Given the description of an element on the screen output the (x, y) to click on. 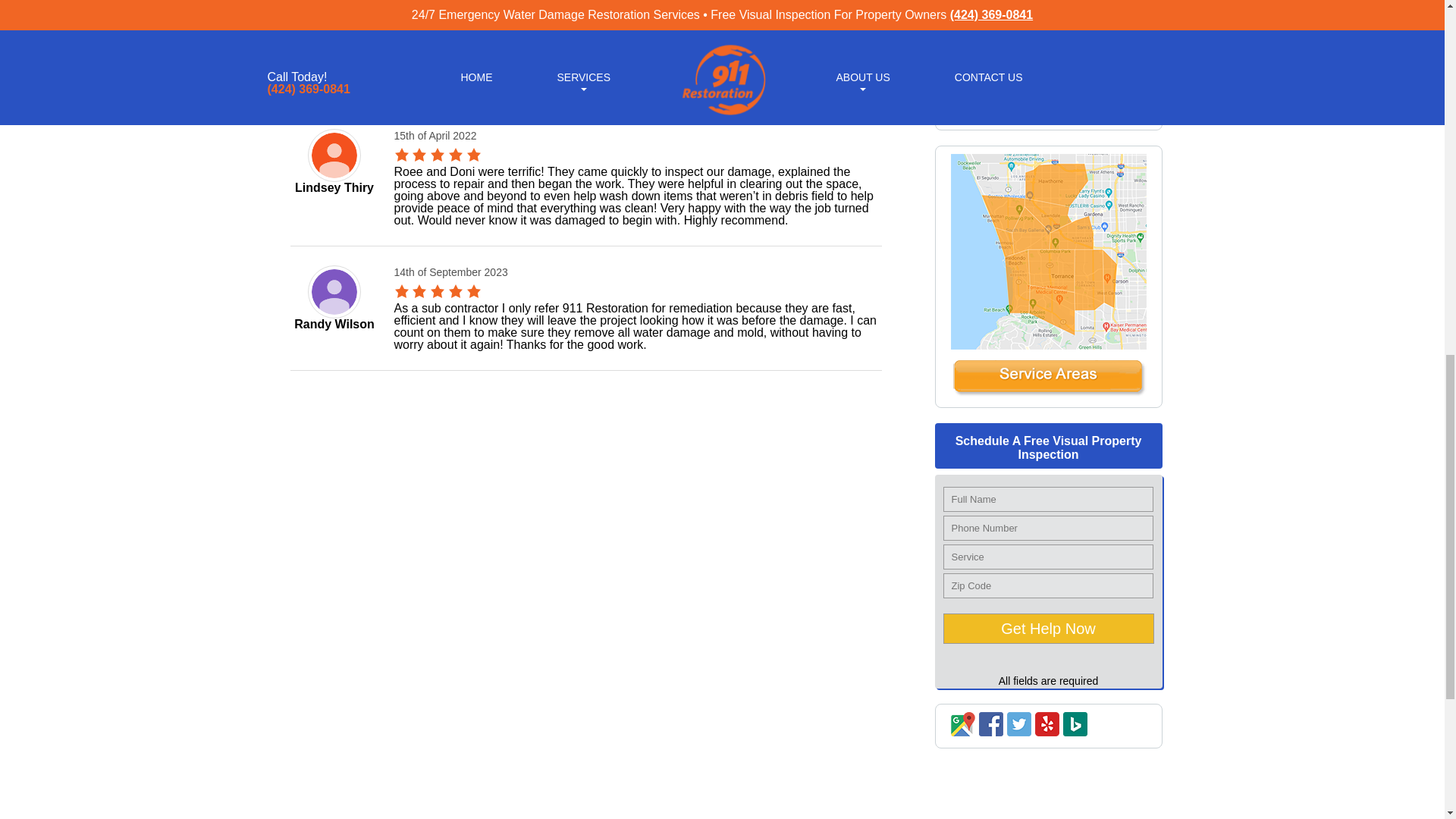
Service Area (1048, 392)
Get Help Now (1048, 628)
